Given the description of an element on the screen output the (x, y) to click on. 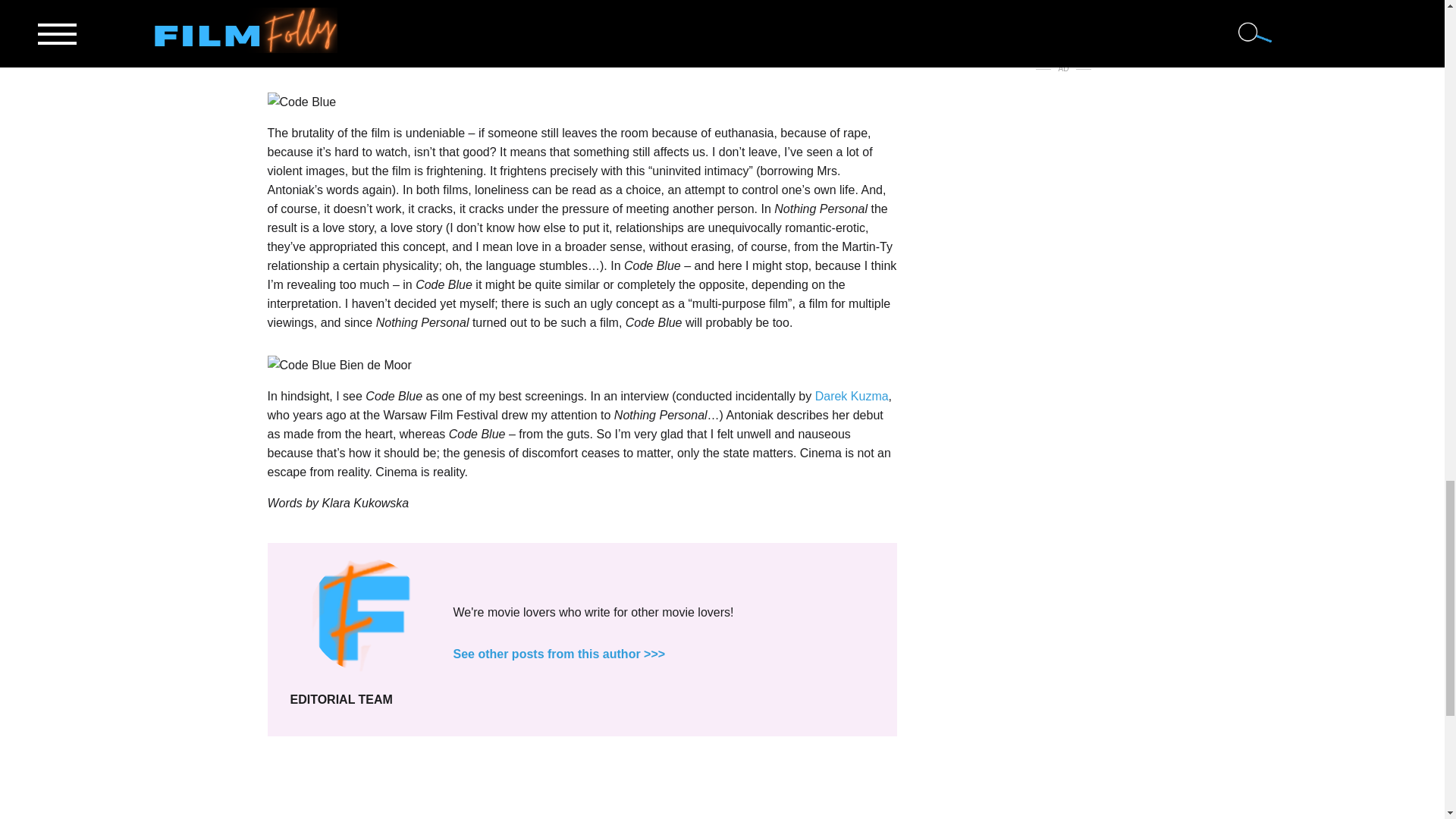
Darek Kuzma (851, 395)
